Given the description of an element on the screen output the (x, y) to click on. 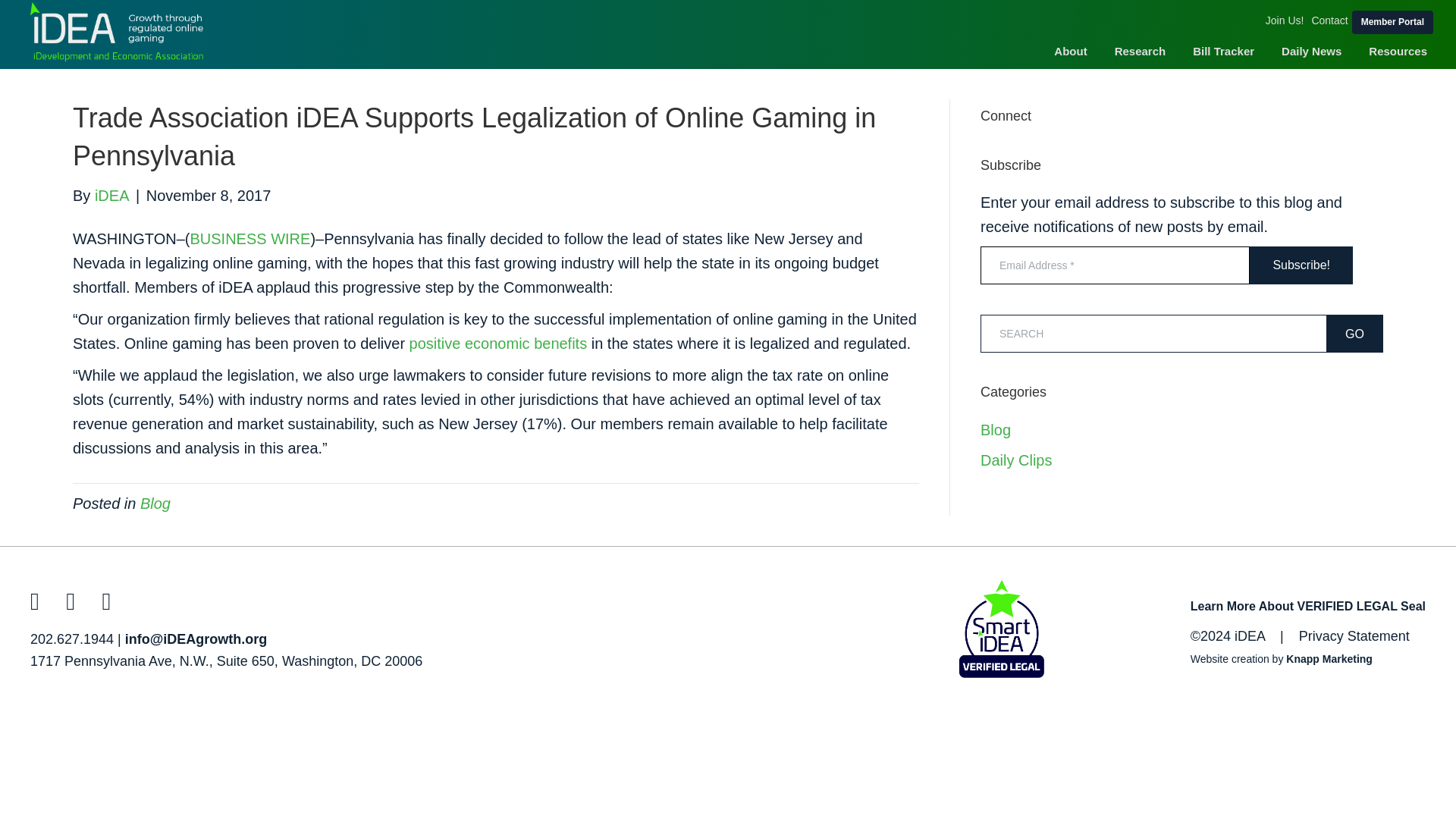
Email Address (1114, 265)
GO (1354, 333)
Subscribe! (1300, 264)
